Given the description of an element on the screen output the (x, y) to click on. 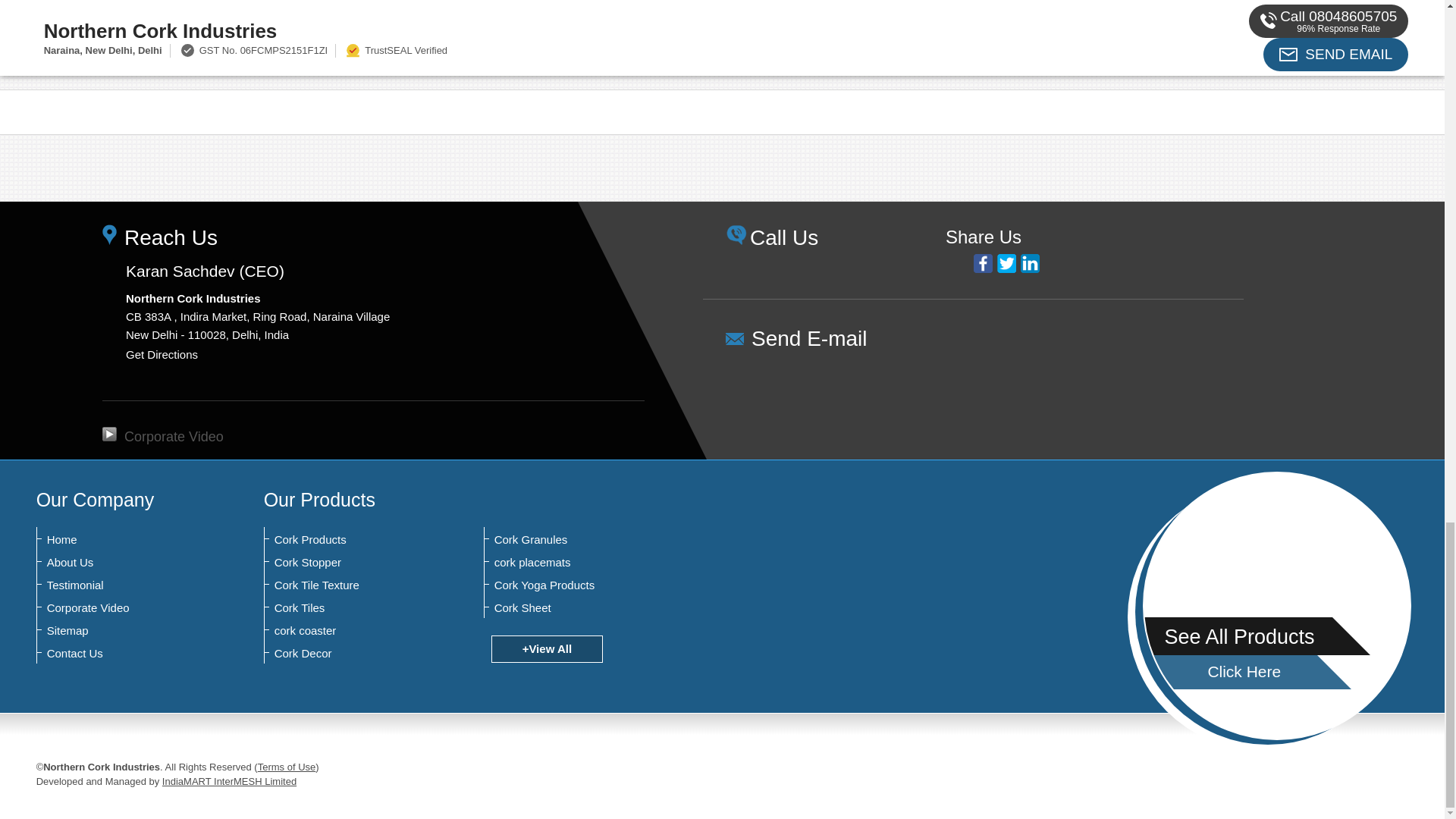
Corporate Video (162, 436)
Twitter (1006, 262)
Get Directions (161, 354)
Facebook (983, 262)
LinkedIn (1029, 262)
